Given the description of an element on the screen output the (x, y) to click on. 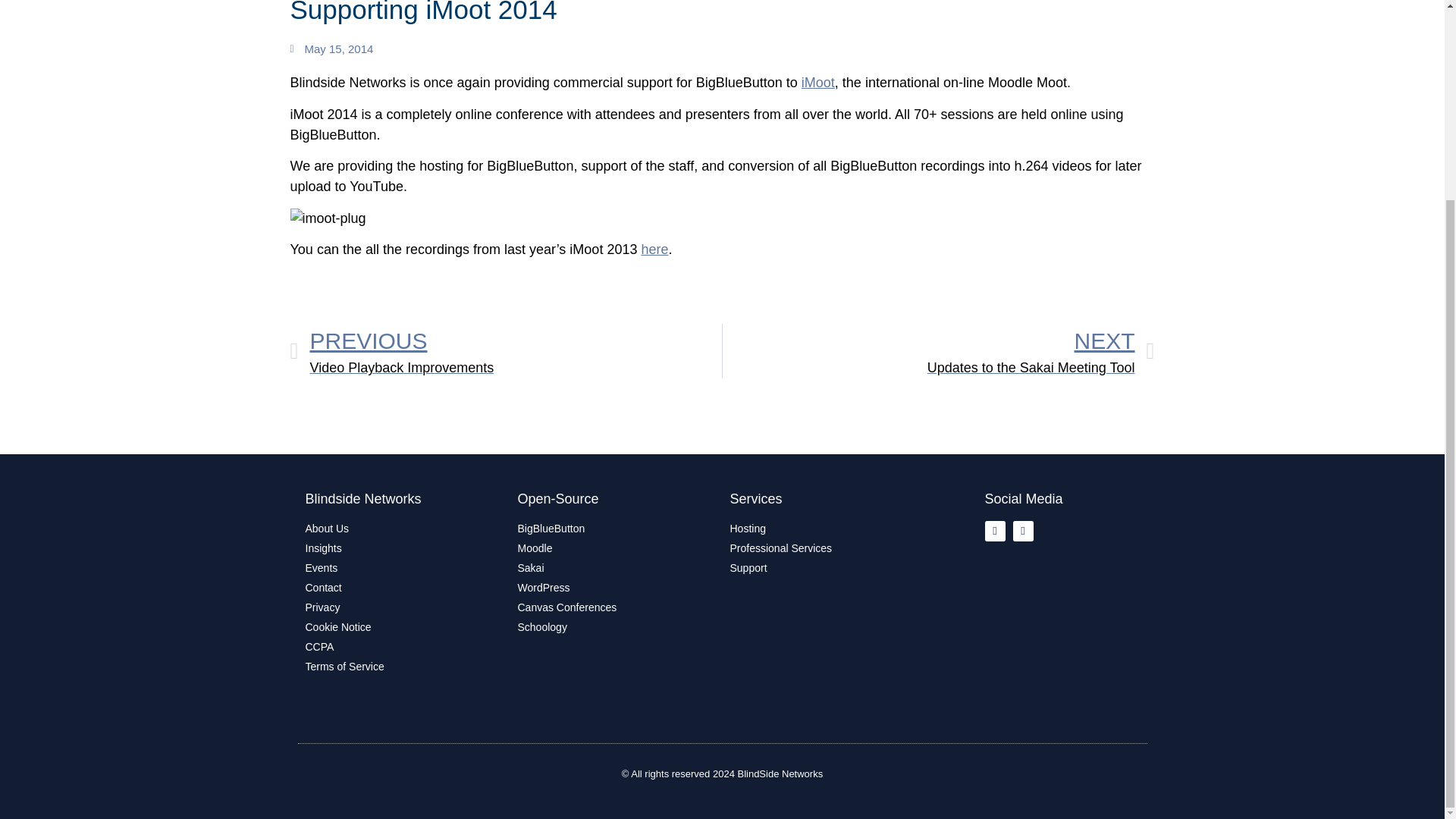
Contact (403, 587)
BigBlueButton (505, 350)
Moodle (615, 528)
Events (615, 548)
Canvas Conferences (403, 568)
WordPress (615, 607)
Hosting (615, 587)
Professional Services (827, 528)
Sakai (827, 548)
Cookie Notice (615, 568)
Insights (403, 627)
here (403, 548)
CCPA (654, 249)
